Given the description of an element on the screen output the (x, y) to click on. 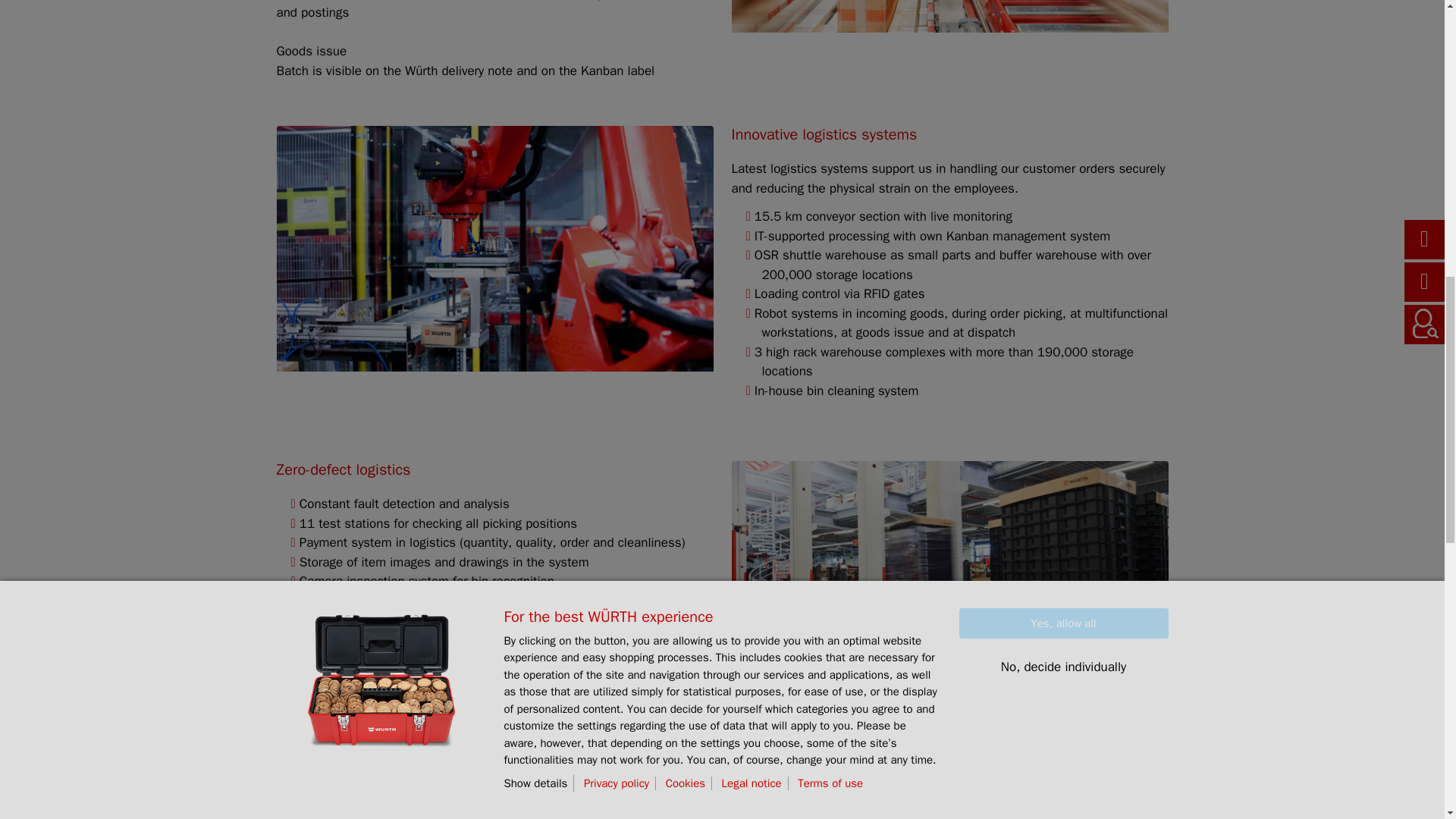
Batch tracebility (948, 16)
Zero-defect logistics (948, 583)
